Given the description of an element on the screen output the (x, y) to click on. 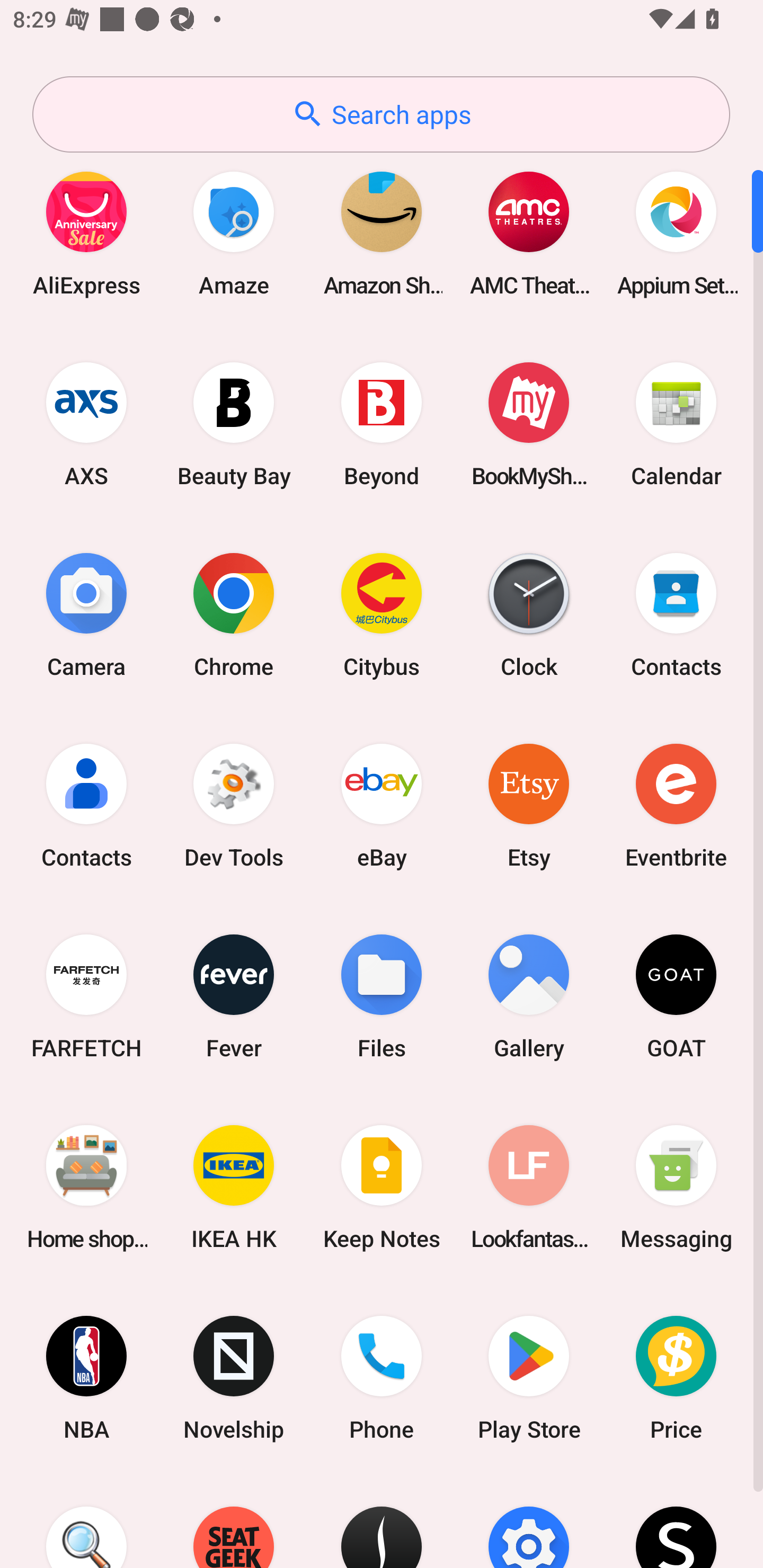
  Search apps (381, 114)
AliExpress (86, 233)
Amaze (233, 233)
Amazon Shopping (381, 233)
AMC Theatres (528, 233)
Appium Settings (676, 233)
AXS (86, 424)
Beauty Bay (233, 424)
Beyond (381, 424)
BookMyShow (528, 424)
Calendar (676, 424)
Camera (86, 614)
Chrome (233, 614)
Citybus (381, 614)
Clock (528, 614)
Contacts (676, 614)
Contacts (86, 805)
Dev Tools (233, 805)
eBay (381, 805)
Etsy (528, 805)
Eventbrite (676, 805)
FARFETCH (86, 996)
Fever (233, 996)
Files (381, 996)
Gallery (528, 996)
GOAT (676, 996)
Home shopping (86, 1186)
IKEA HK (233, 1186)
Keep Notes (381, 1186)
Lookfantastic (528, 1186)
Messaging (676, 1186)
NBA (86, 1377)
Novelship (233, 1377)
Phone (381, 1377)
Play Store (528, 1377)
Price (676, 1377)
